Given the description of an element on the screen output the (x, y) to click on. 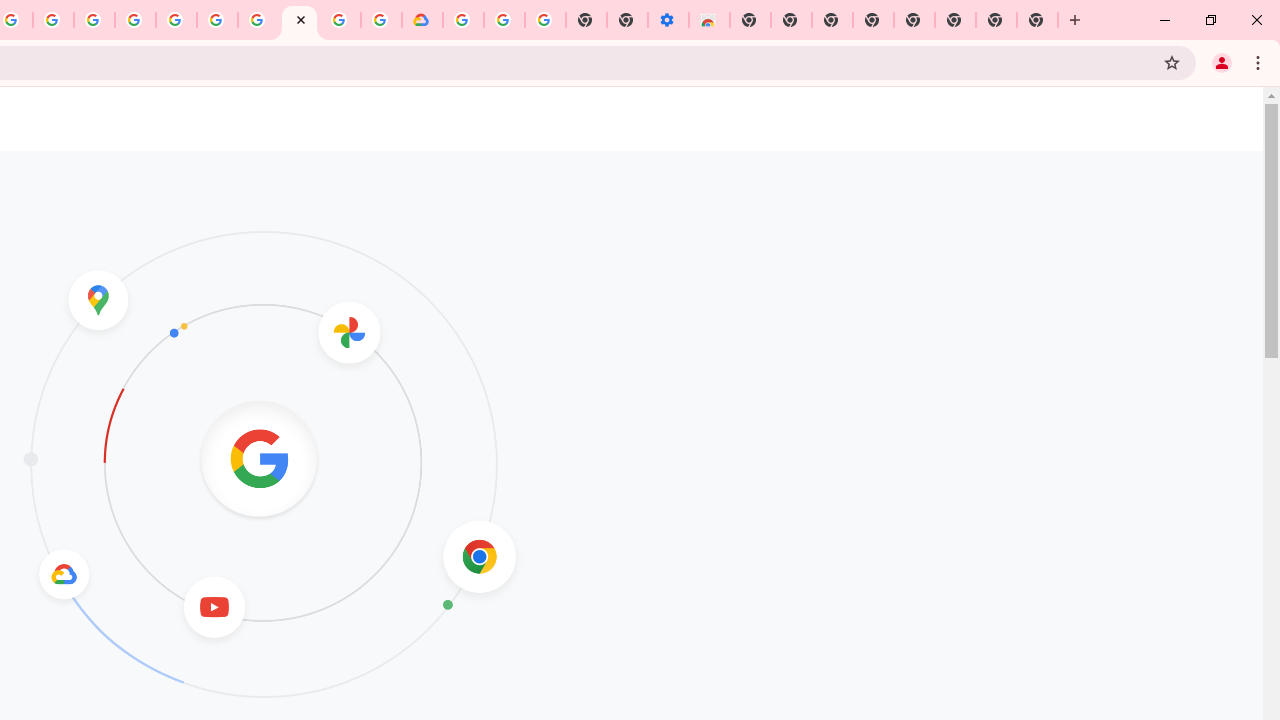
Sign in - Google Accounts (462, 20)
You (1221, 62)
Create your Google Account (53, 20)
Sign in - Google Accounts (176, 20)
Browse the Google Chrome Community - Google Chrome Community (381, 20)
Bookmark this tab (1171, 62)
Chrome (1260, 62)
New Tab (1037, 20)
Minimize (1165, 20)
Chrome Web Store - Accessibility extensions (708, 20)
